Given the description of an element on the screen output the (x, y) to click on. 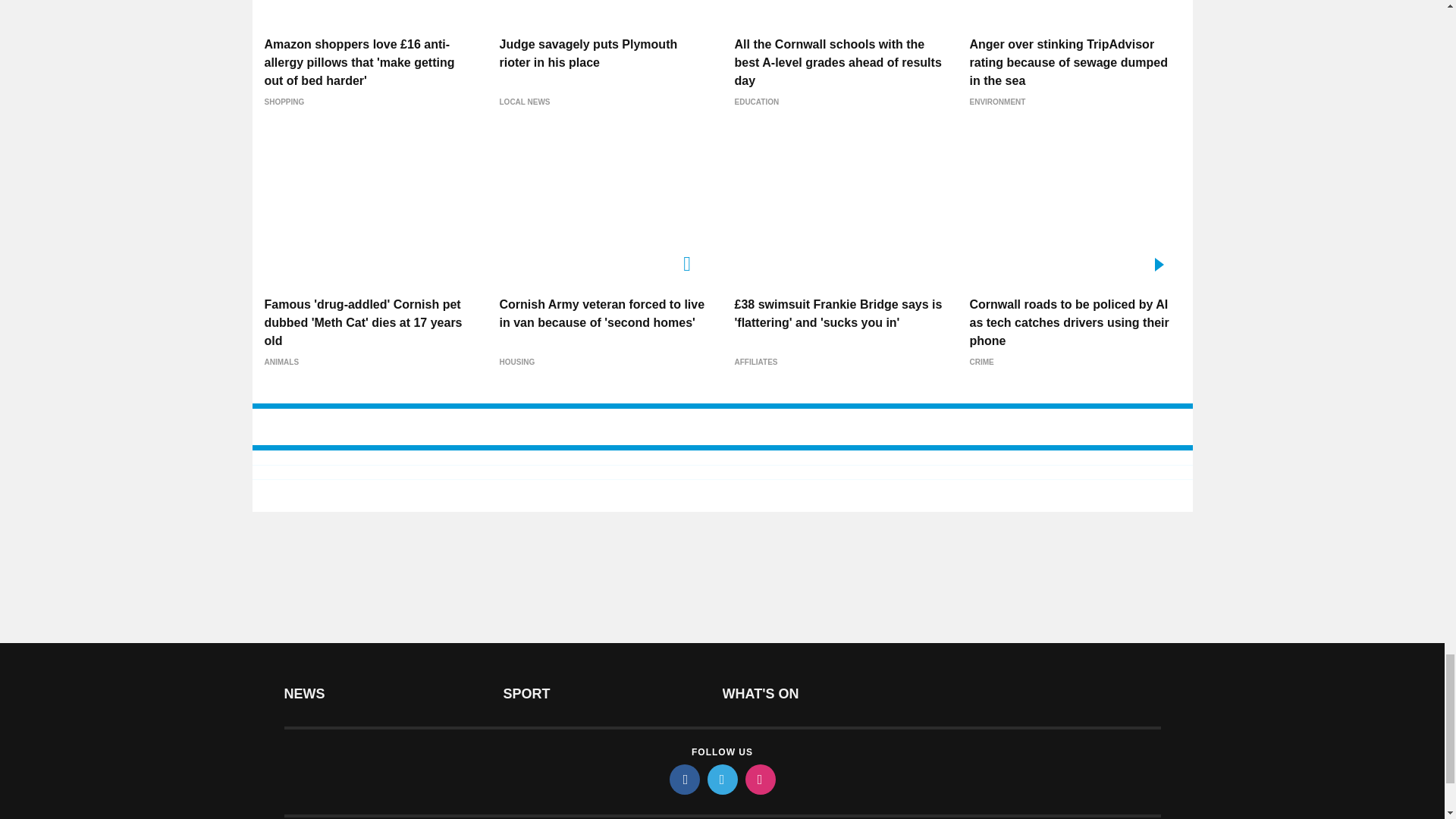
instagram (759, 779)
facebook (683, 779)
twitter (721, 779)
